Given the description of an element on the screen output the (x, y) to click on. 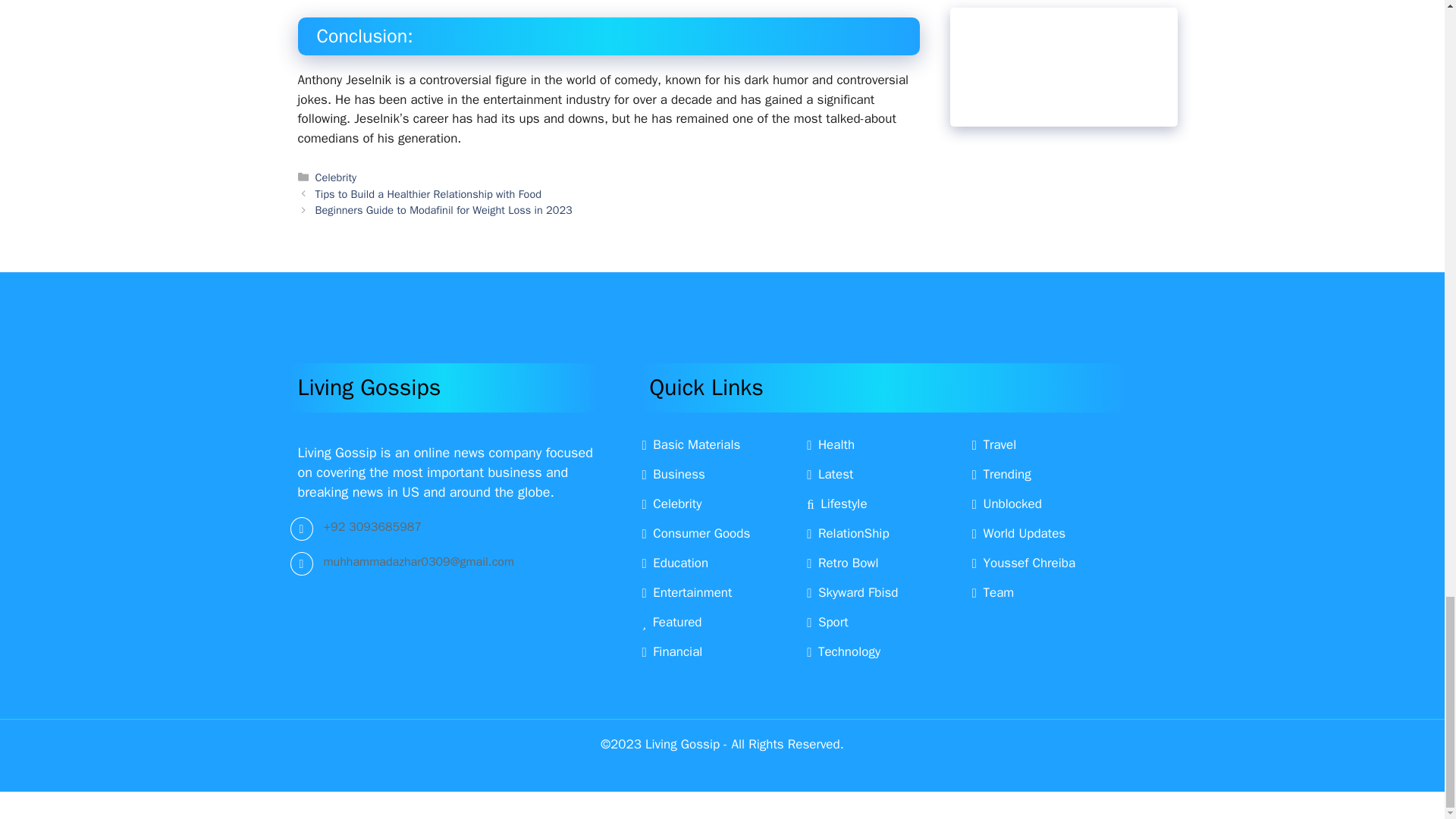
Tips to Build a Healthier Relationship with Food (428, 193)
Beginners Guide to Modafinil for Weight Loss in 2023 (443, 210)
Celebrity (335, 177)
Business (673, 474)
Basic Materials (690, 444)
